Given the description of an element on the screen output the (x, y) to click on. 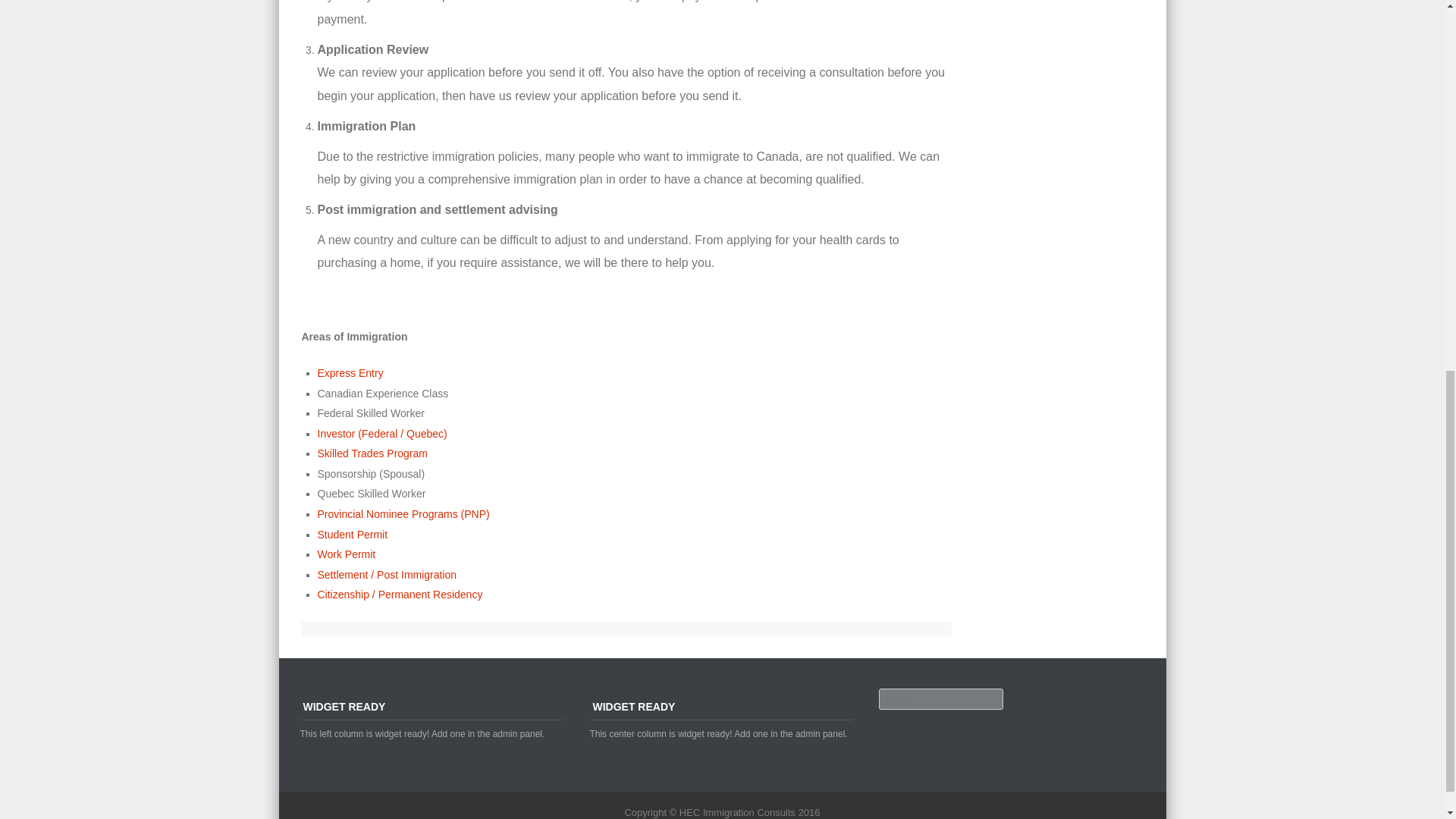
Express Entry (349, 372)
Express Entry (349, 372)
Work Permit (346, 553)
Skilled Trades Program (372, 453)
Student Permit (352, 534)
Click Here (832, 1)
